Given the description of an element on the screen output the (x, y) to click on. 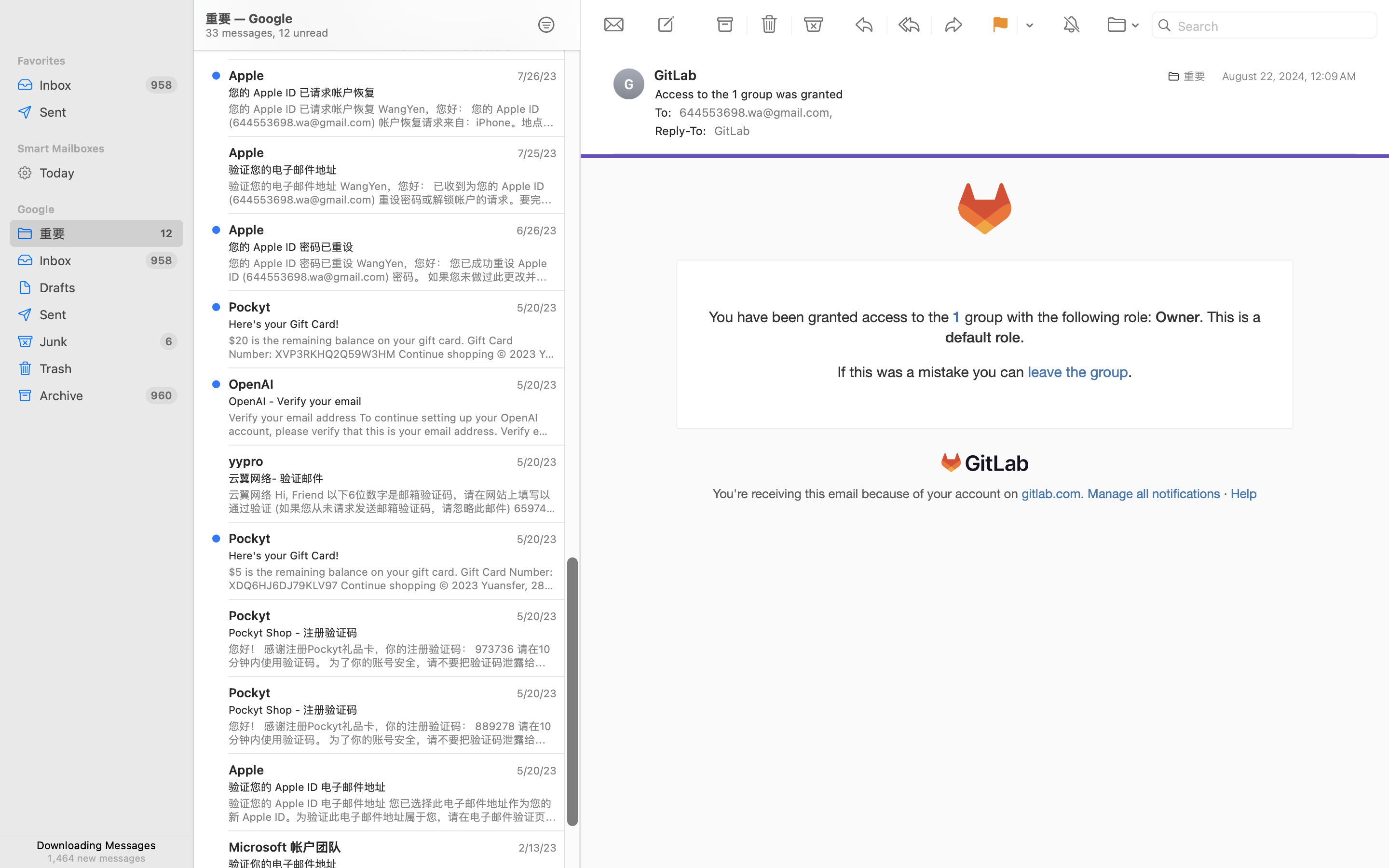
7/25/23 Element type: AXStaticText (536, 153)
验证您的电子邮件地址 WangYen，您好： 已收到为您的 Apple ID (644553698.wa@gmail.com) 重设密码或解锁帐户的请求。要完成此流程，请在验证页面输入以下代码： 354689 如果您未曾做出此更改，或认为有人未经授权访问了您的帐户，请立即前往 appleid.apple.com 以确保您的帐户信息准确且保持更新。 此致 Apple 支持 Apple ID | 支持 | 隐私政策 Copyright © 2023 One Apple Park Way, Cupertino, CA 95014, United States‎ 保留所有权利。 Element type: AXStaticText (392, 192)
leave the group Element type: AXStaticText (1077, 371)
您在Bumble上是我们的幸运！ 您很受欢迎哦，认识更多新朋友吧！ 打开Bumble 您的赞 有Bumble会员对您很感兴趣。看看你们是否彼此欣赏吧。 看看您的赞 小提示： 导入学校到您的个人档案吧。让大家进一步了解您，赢得更多配对。 打开Bumble Copyright (c) 2023 Bumble，保留所有权利。 反馈意见？support@bumble.com 您收到本邮件是因为您在Bumble上创建了一个账号。 如果您不希望收到此类邮件，只需取消订阅 Bumble Trading LLC注册于美国，注册办公地址为1105 W 41st Street, Austin, TX 78756 Element type: AXStaticText (392, 38)
Here's your Gift Card! Element type: AXStaticText (388, 323)
